Given the description of an element on the screen output the (x, y) to click on. 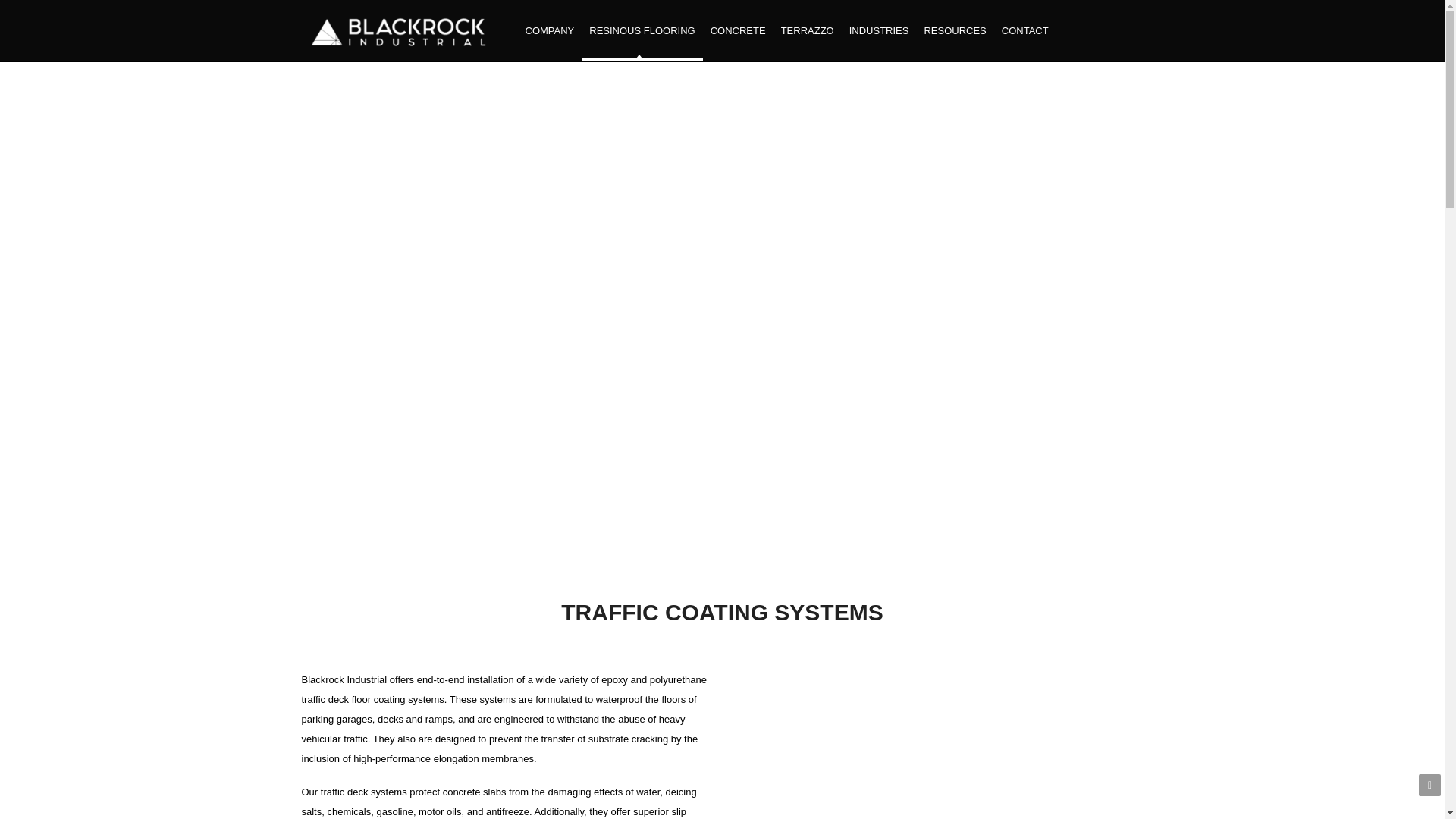
TERRAZZO (807, 30)
RESOURCES (953, 30)
COMPANY (548, 30)
RESINOUS FLOORING (640, 30)
CONCRETE (738, 30)
INDUSTRIES (879, 30)
